Given the description of an element on the screen output the (x, y) to click on. 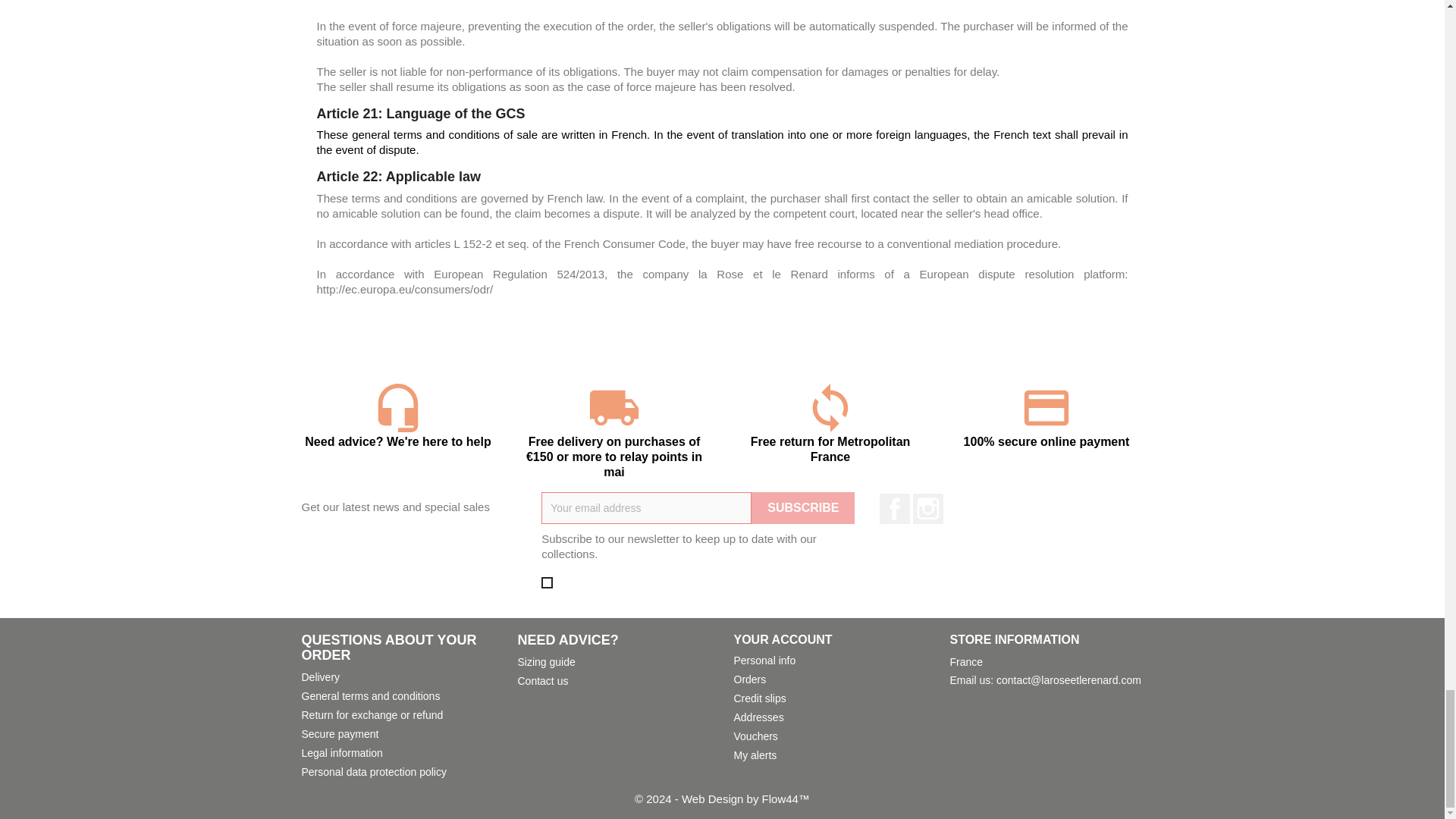
Addresses (758, 717)
Refund or exchange policy for items received (372, 715)
Addresses (758, 717)
Orders (750, 679)
My alerts (755, 755)
Secure payment (339, 734)
YOUR ACCOUNT (782, 639)
Legal information (341, 752)
General terms and conditions (371, 695)
Orders (750, 679)
GDPR - Personal data protection policy (373, 771)
Personal data protection policy (373, 771)
Our secure payment method (339, 734)
Subscribe (802, 508)
Our terms and conditions of sale (371, 695)
